Given the description of an element on the screen output the (x, y) to click on. 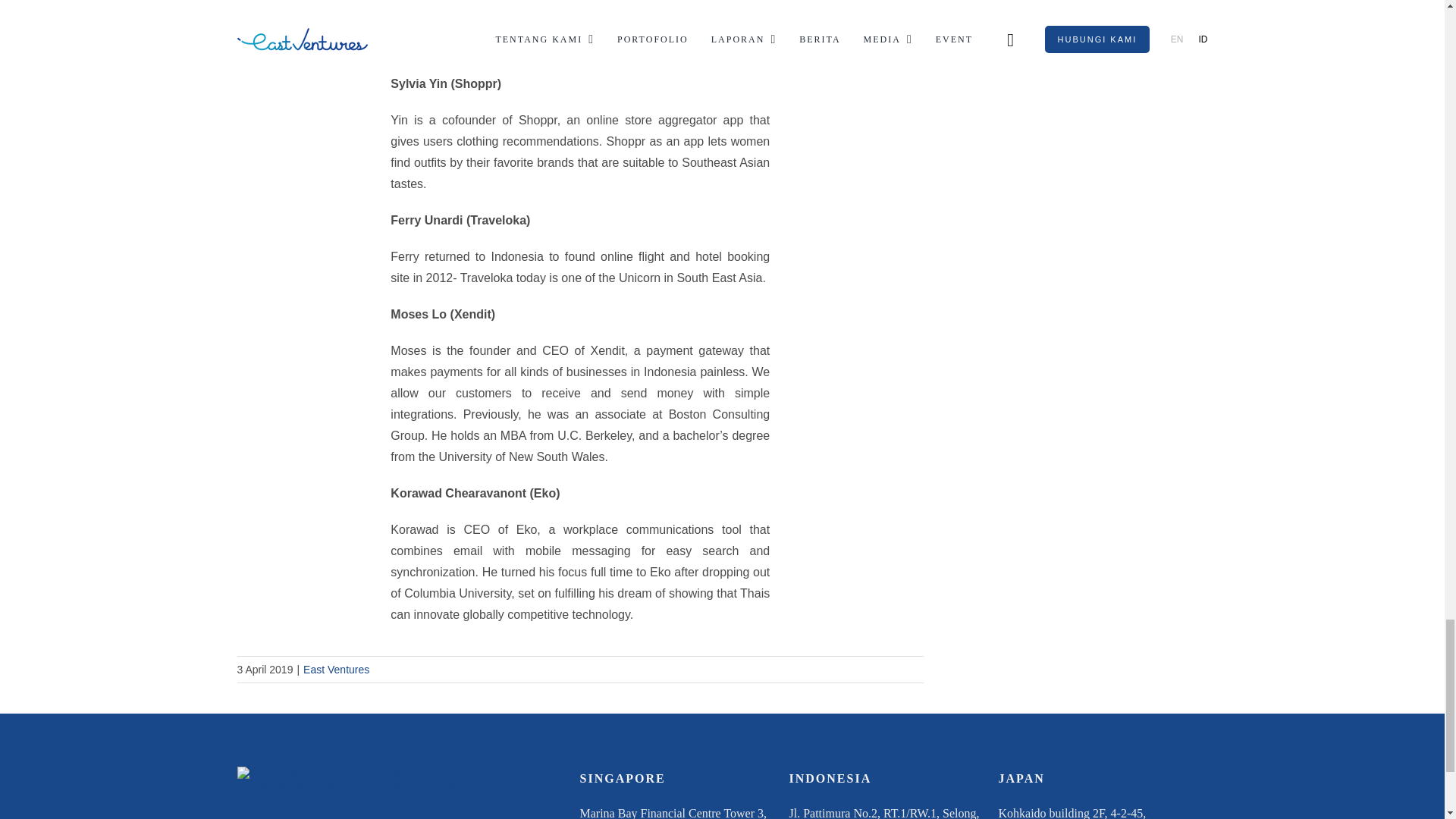
East Ventures (335, 669)
